Given the description of an element on the screen output the (x, y) to click on. 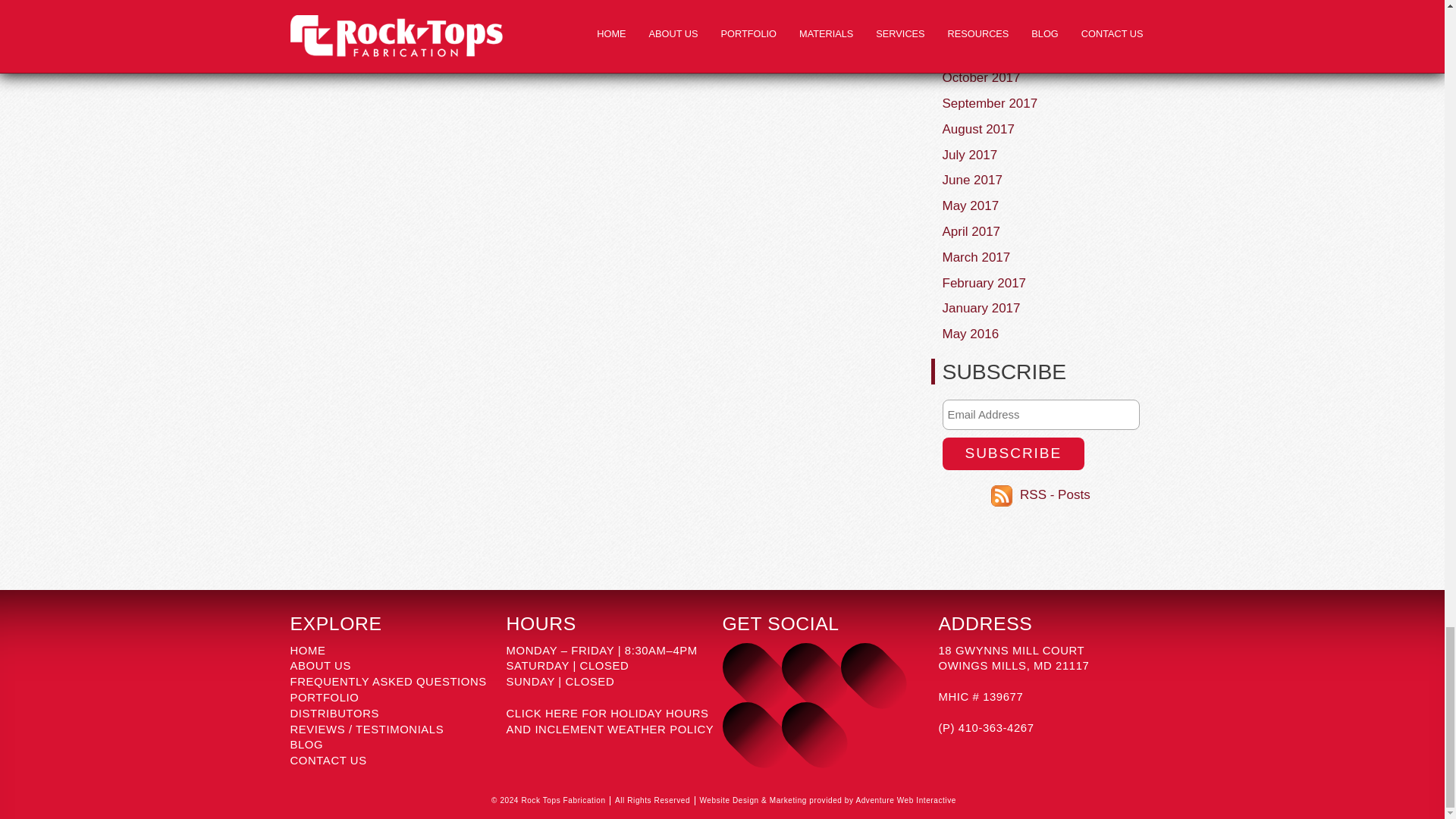
Houzz (804, 726)
Pinterest (746, 726)
YouTube (864, 666)
Twitter (746, 666)
Facebook (804, 666)
Subscribe to Posts (1055, 494)
Subscribe to Posts (1003, 494)
